Given the description of an element on the screen output the (x, y) to click on. 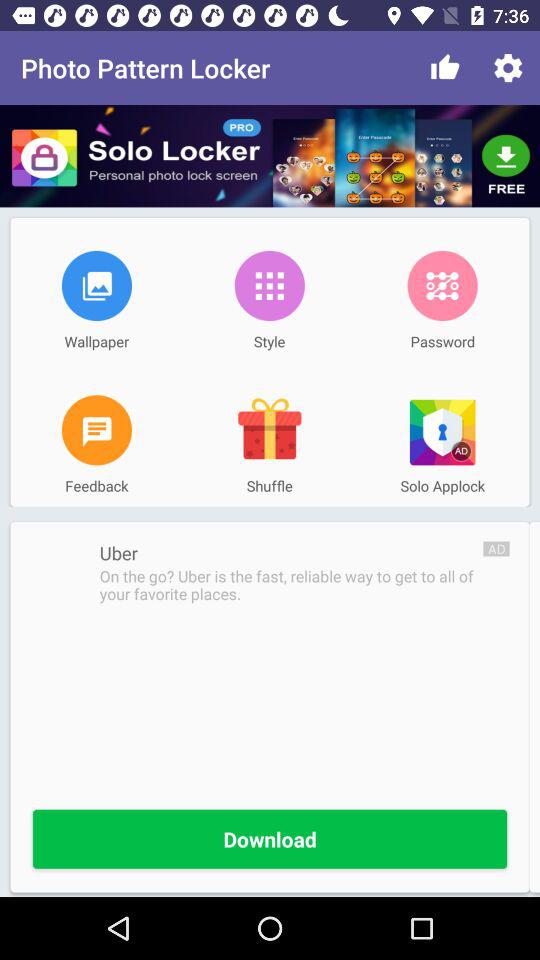
select item to the left of the style item (96, 285)
